Given the description of an element on the screen output the (x, y) to click on. 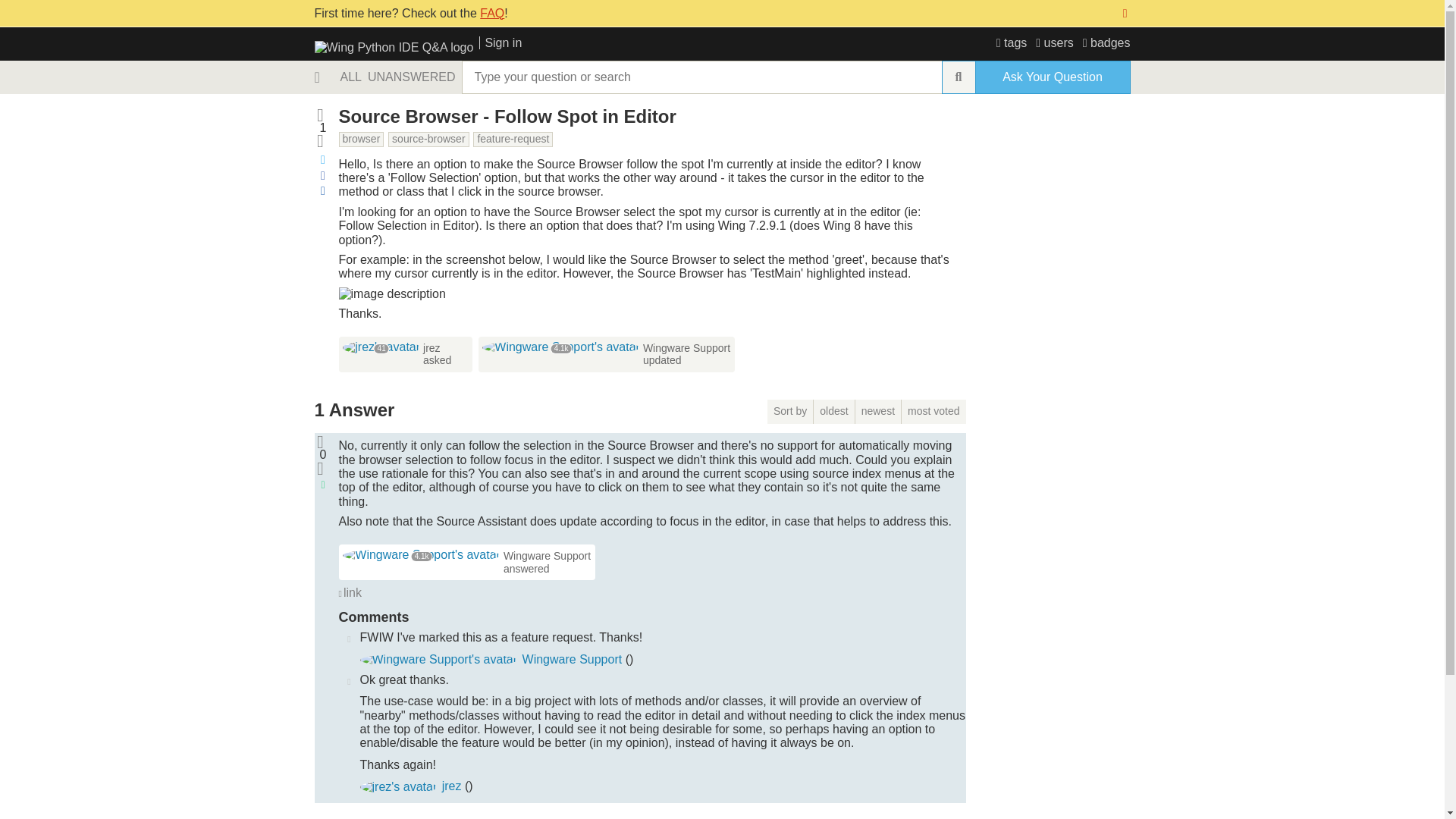
Sign in (500, 42)
search (958, 77)
4.1k (560, 346)
jrez (397, 786)
newest (878, 411)
answered (526, 568)
jrez (432, 347)
link (349, 592)
permanent link (349, 592)
updated (662, 359)
asked (437, 359)
UNANSWERED (411, 77)
tags (1011, 42)
upvote comment (348, 679)
FAQ (491, 12)
